Given the description of an element on the screen output the (x, y) to click on. 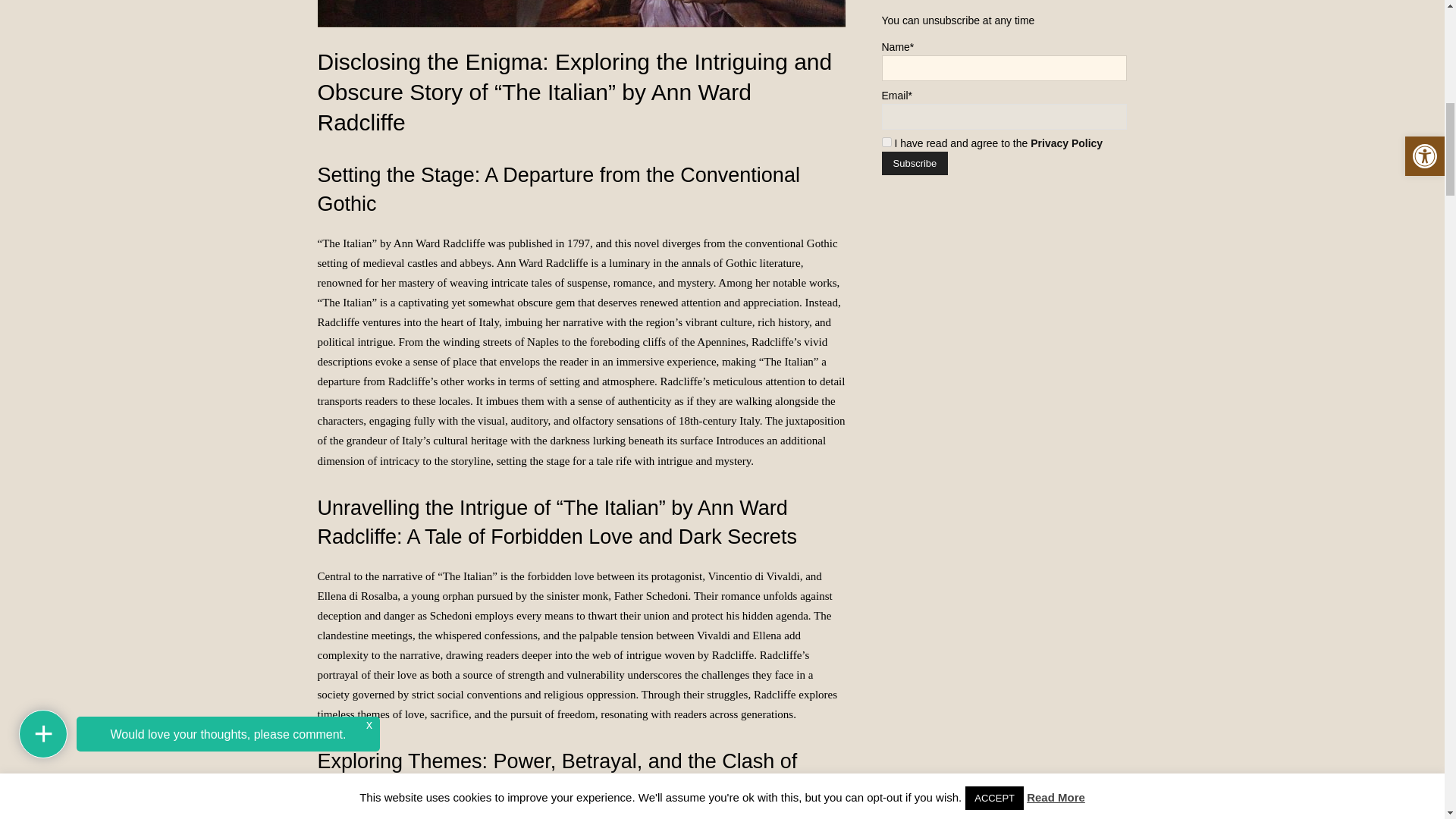
Subscribe (913, 163)
true (885, 142)
